Given the description of an element on the screen output the (x, y) to click on. 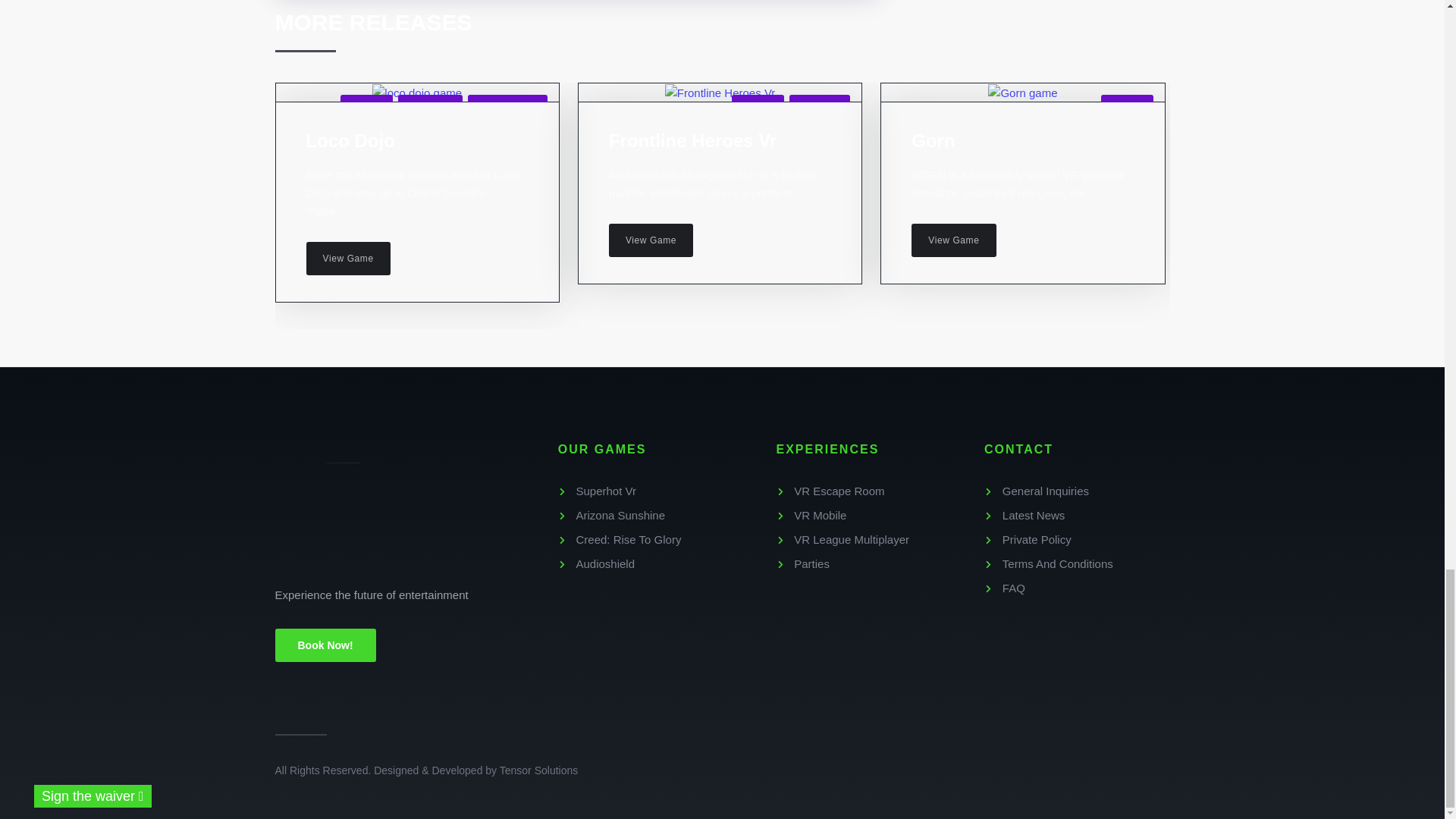
ACTION (365, 106)
FEATURED (430, 106)
View Game (347, 258)
MULTIPLAYER (507, 106)
Loco Dojo (349, 140)
